Given the description of an element on the screen output the (x, y) to click on. 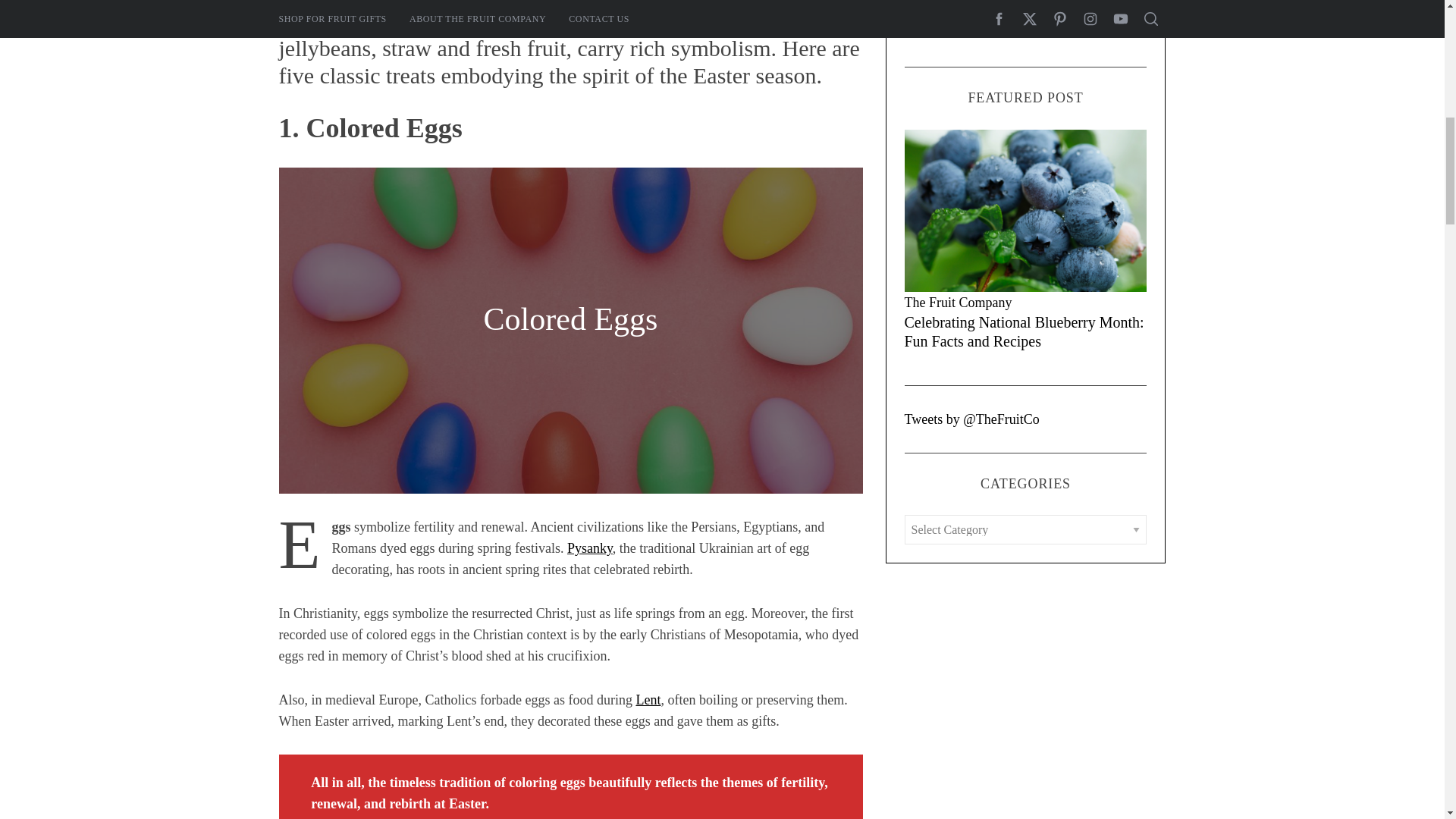
Pysanky (589, 548)
Lent (647, 699)
